Given the description of an element on the screen output the (x, y) to click on. 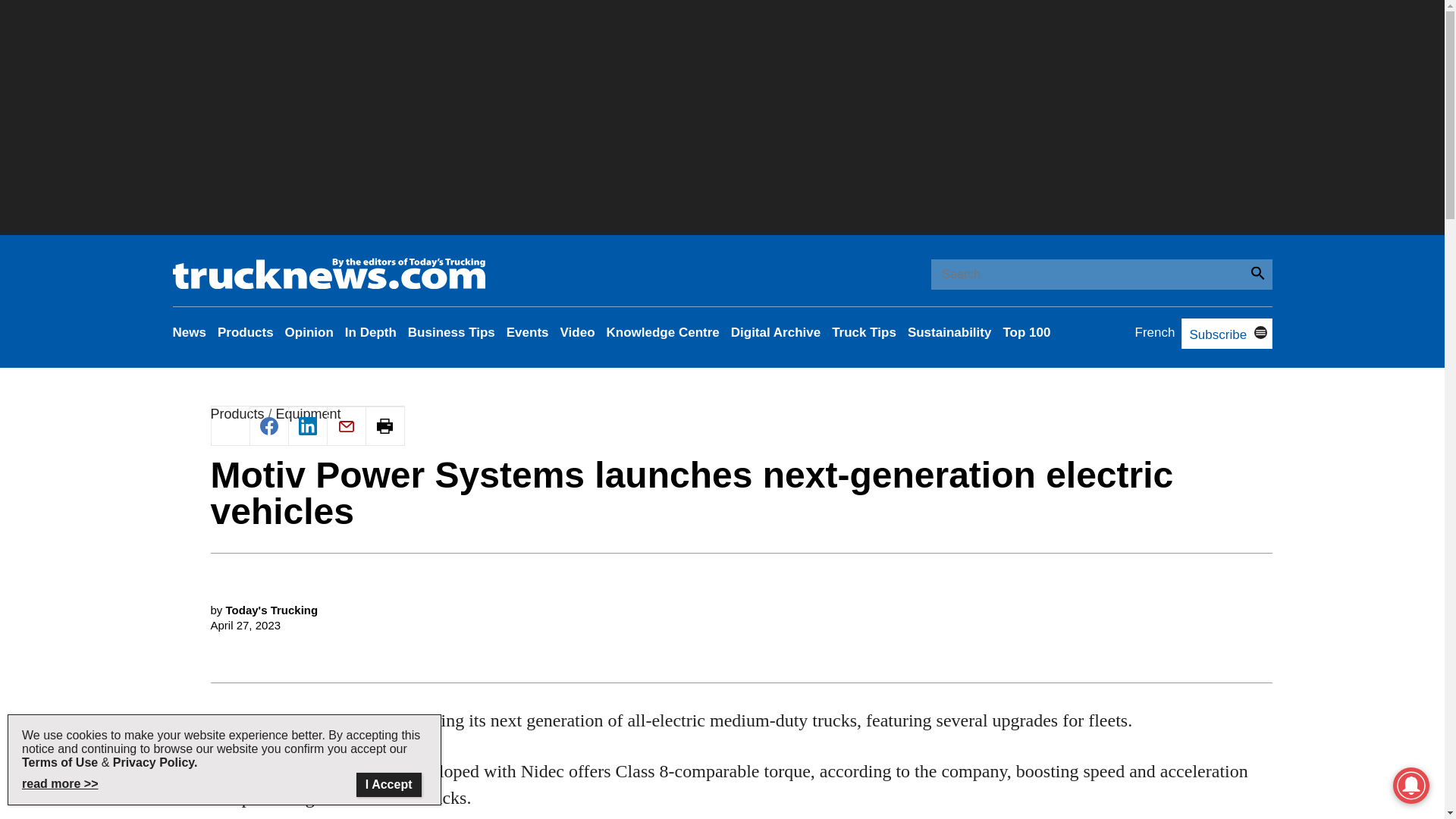
Subscribe (1213, 334)
Business Tips (451, 332)
Top 100 (1026, 332)
Truck Tips (863, 332)
Events (527, 332)
Knowledge Centre (663, 332)
Sustainability (949, 332)
In Depth (370, 332)
Digital Archive (775, 332)
3rd party ad content (741, 530)
Products (244, 332)
French (1154, 332)
Opinion (309, 332)
News (189, 332)
3rd party ad content (741, 738)
